Given the description of an element on the screen output the (x, y) to click on. 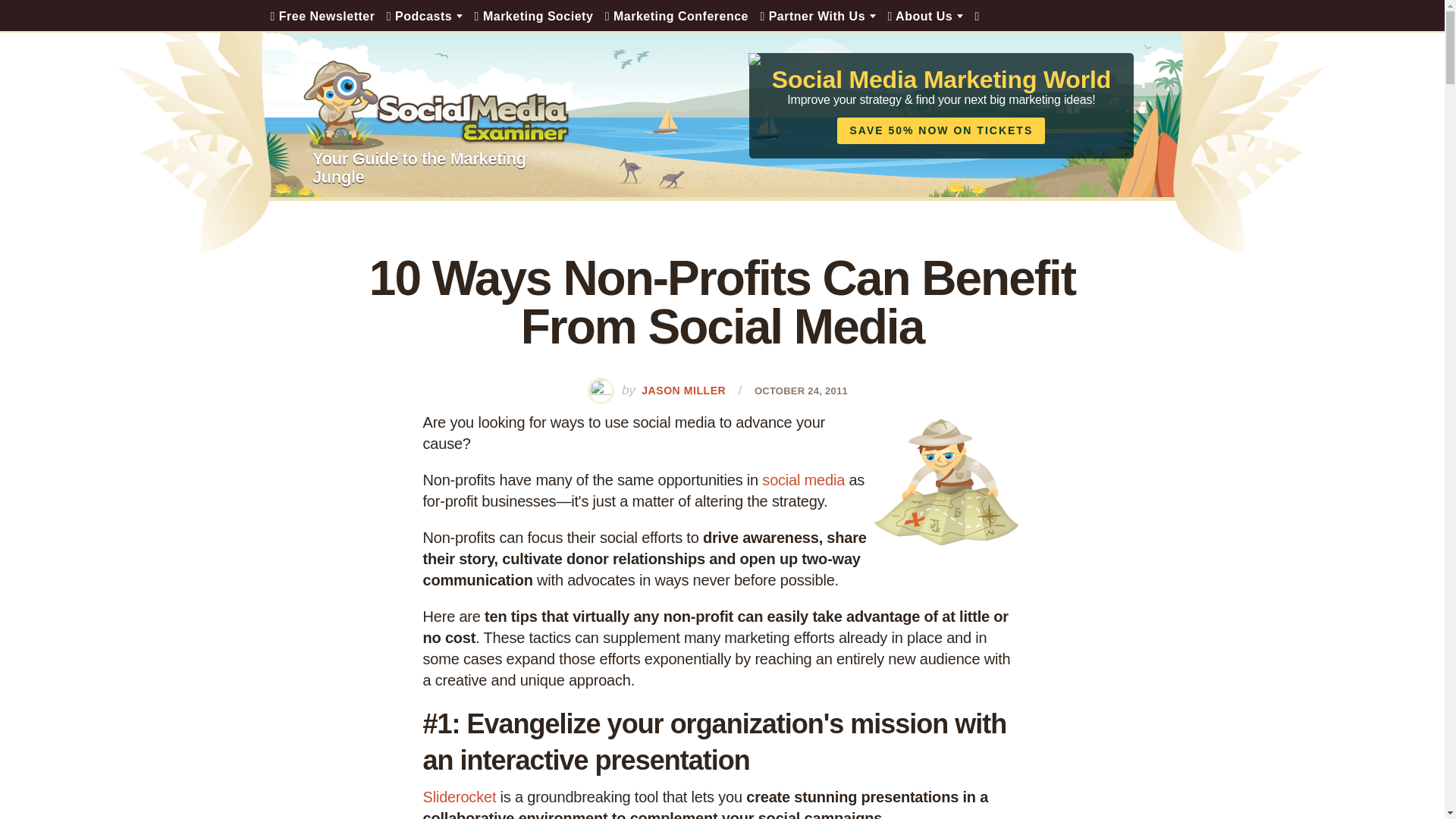
Discover our weekly shows (424, 15)
Social Media Examiner (436, 104)
Never miss any of our content! (321, 15)
social media how to (945, 482)
All about Social Media Examiner (924, 15)
JASON MILLER (683, 390)
Check out Social Media Marketing World (676, 15)
Sliderocket (459, 796)
social media (802, 479)
